Given the description of an element on the screen output the (x, y) to click on. 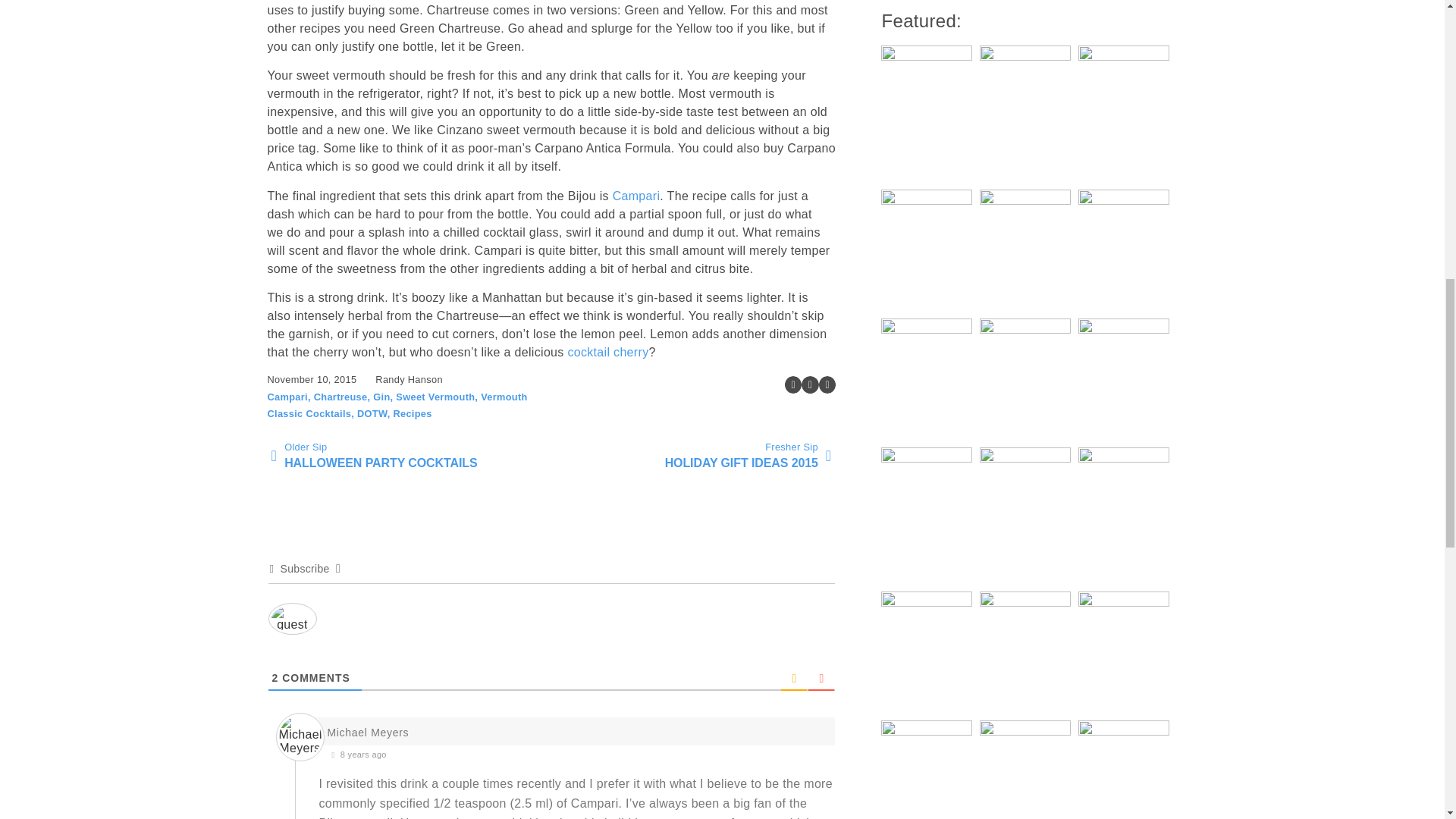
Sweet Vermouth (435, 396)
Chartreuse (341, 396)
Classic Cocktails (691, 455)
Vermouth (308, 413)
Campari (410, 455)
DOTW (503, 396)
Gin (636, 195)
Campari (371, 413)
